Given the description of an element on the screen output the (x, y) to click on. 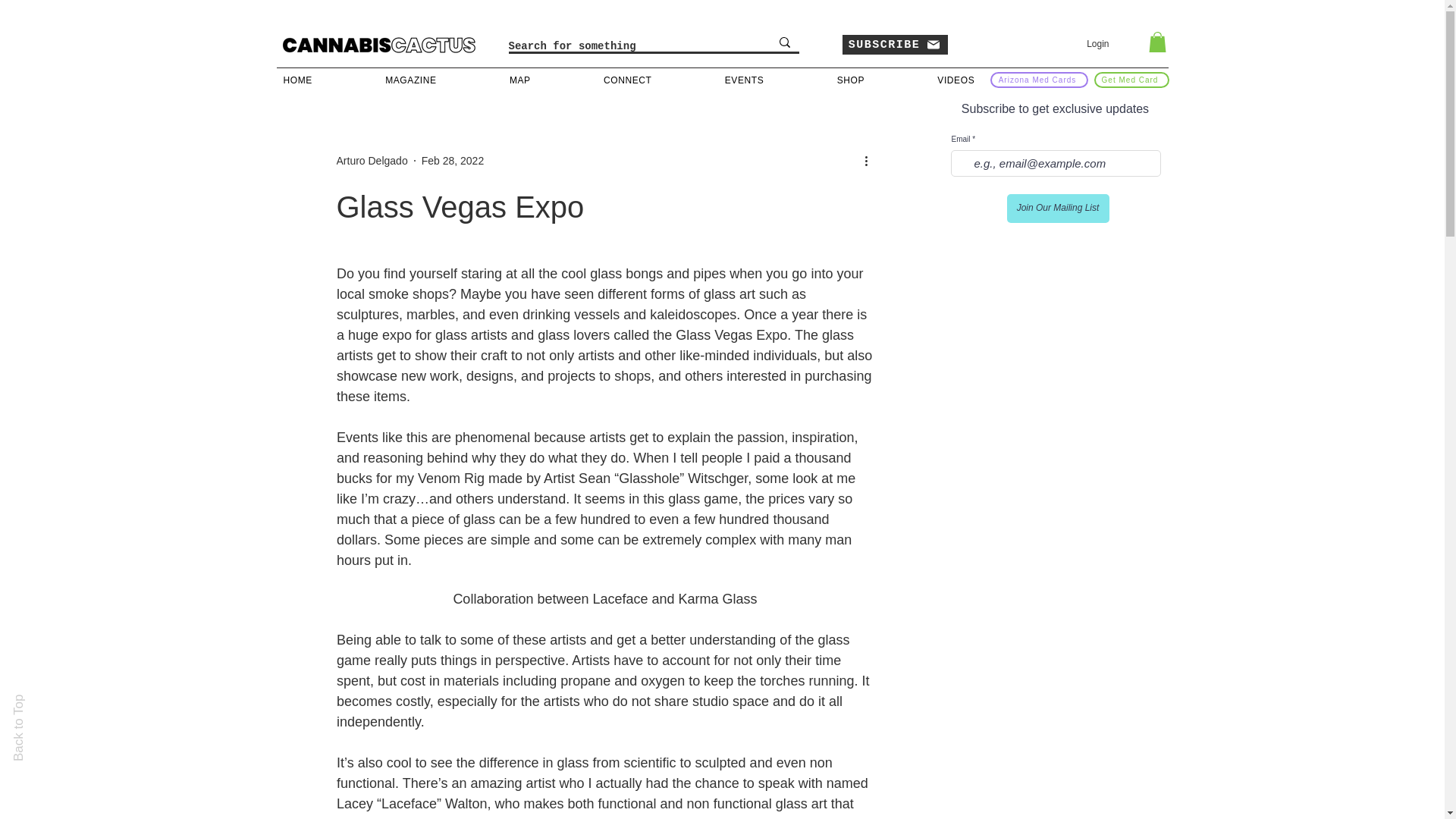
SHOP (876, 80)
EVENTS (770, 80)
SUBSCRIBE (894, 44)
Get Med Card (1131, 79)
Arizona Med Cards (1038, 79)
Login (1097, 44)
HOME (324, 80)
VIDEOS (981, 80)
Arturo Delgado (371, 160)
Feb 28, 2022 (453, 160)
MAGAZINE (436, 80)
Arturo Delgado (371, 160)
MAP (545, 80)
CONNECT (653, 80)
